Given the description of an element on the screen output the (x, y) to click on. 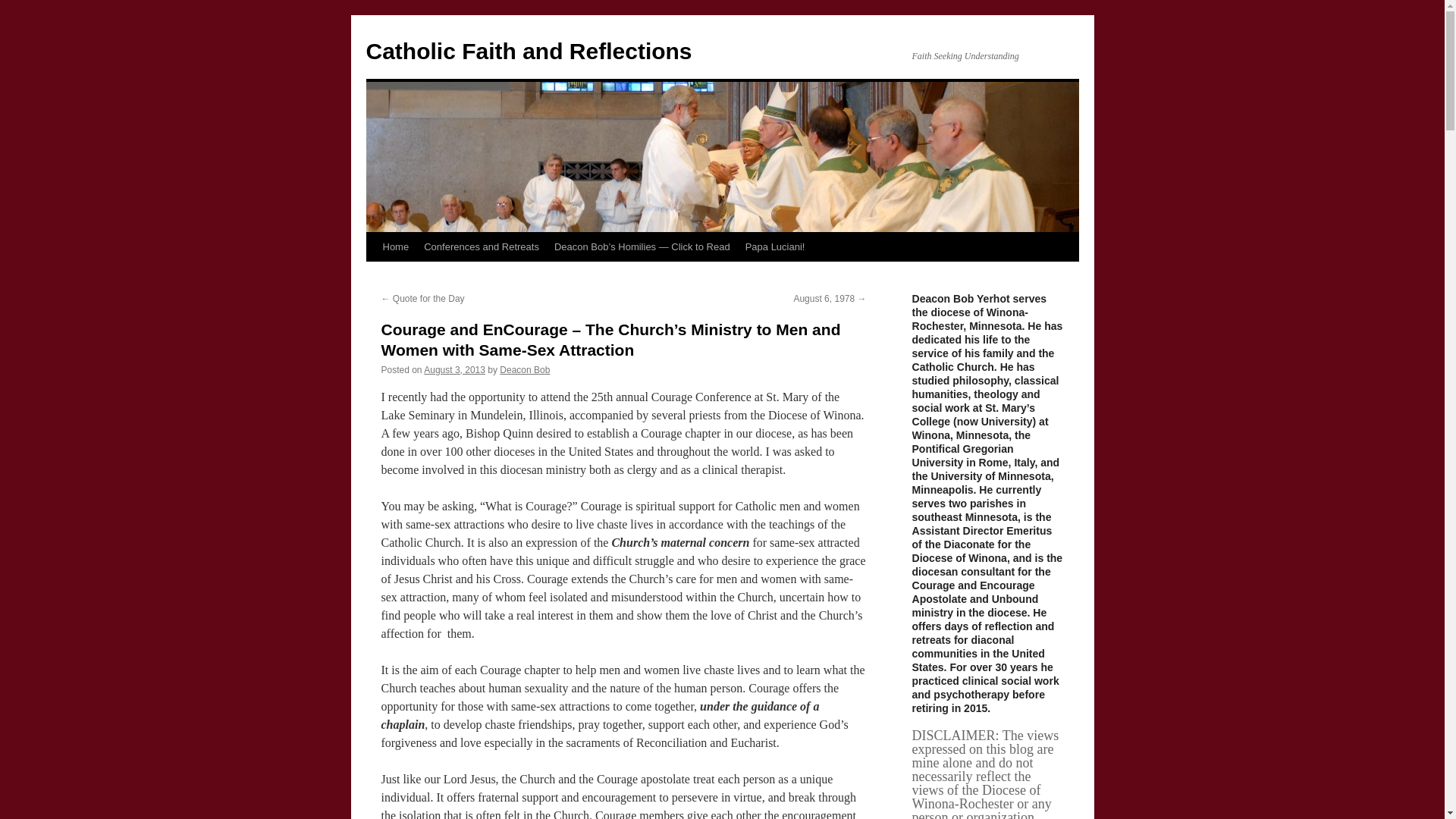
2:31 PM (453, 369)
August 3, 2013 (453, 369)
Catholic Faith and Reflections (528, 50)
View all posts by Deacon Bob (524, 369)
Conferences and Retreats (481, 246)
Home (395, 246)
Catholic Faith and Reflections (528, 50)
Papa Luciani! (775, 246)
Deacon Bob (524, 369)
